Given the description of an element on the screen output the (x, y) to click on. 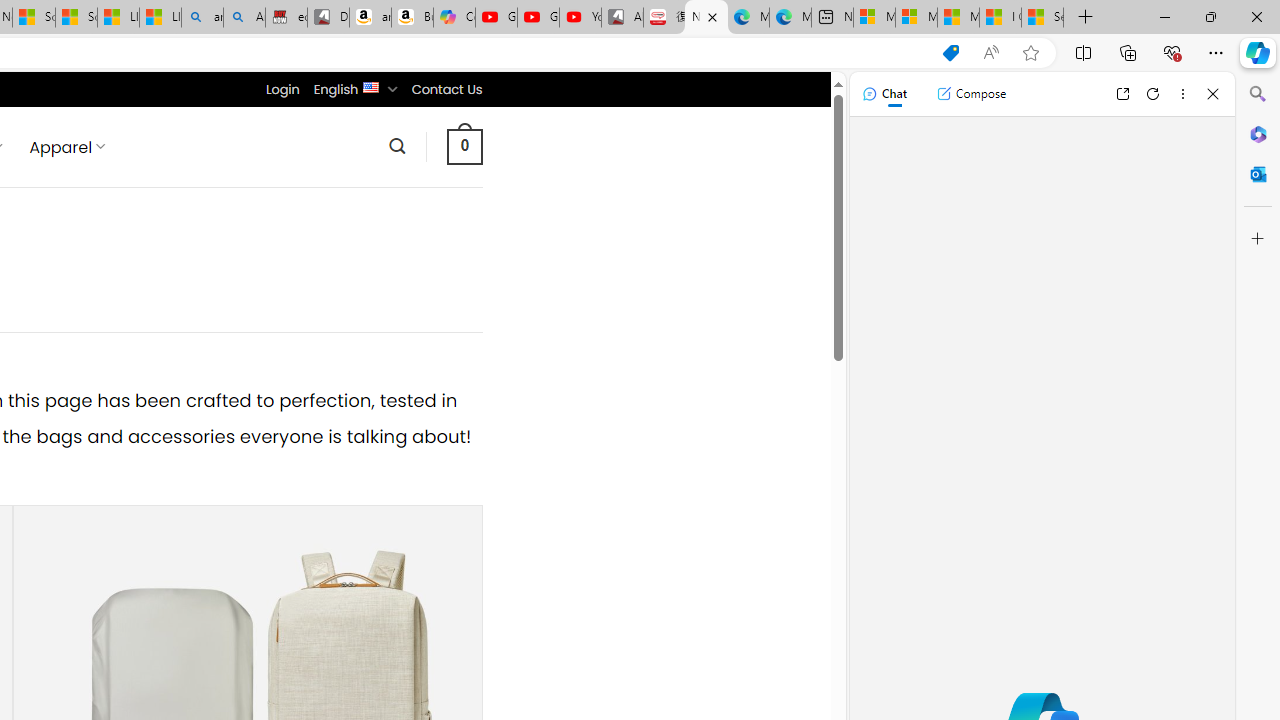
amazon.in/dp/B0CX59H5W7/?tag=gsmcom05-21 (369, 17)
